Given the description of an element on the screen output the (x, y) to click on. 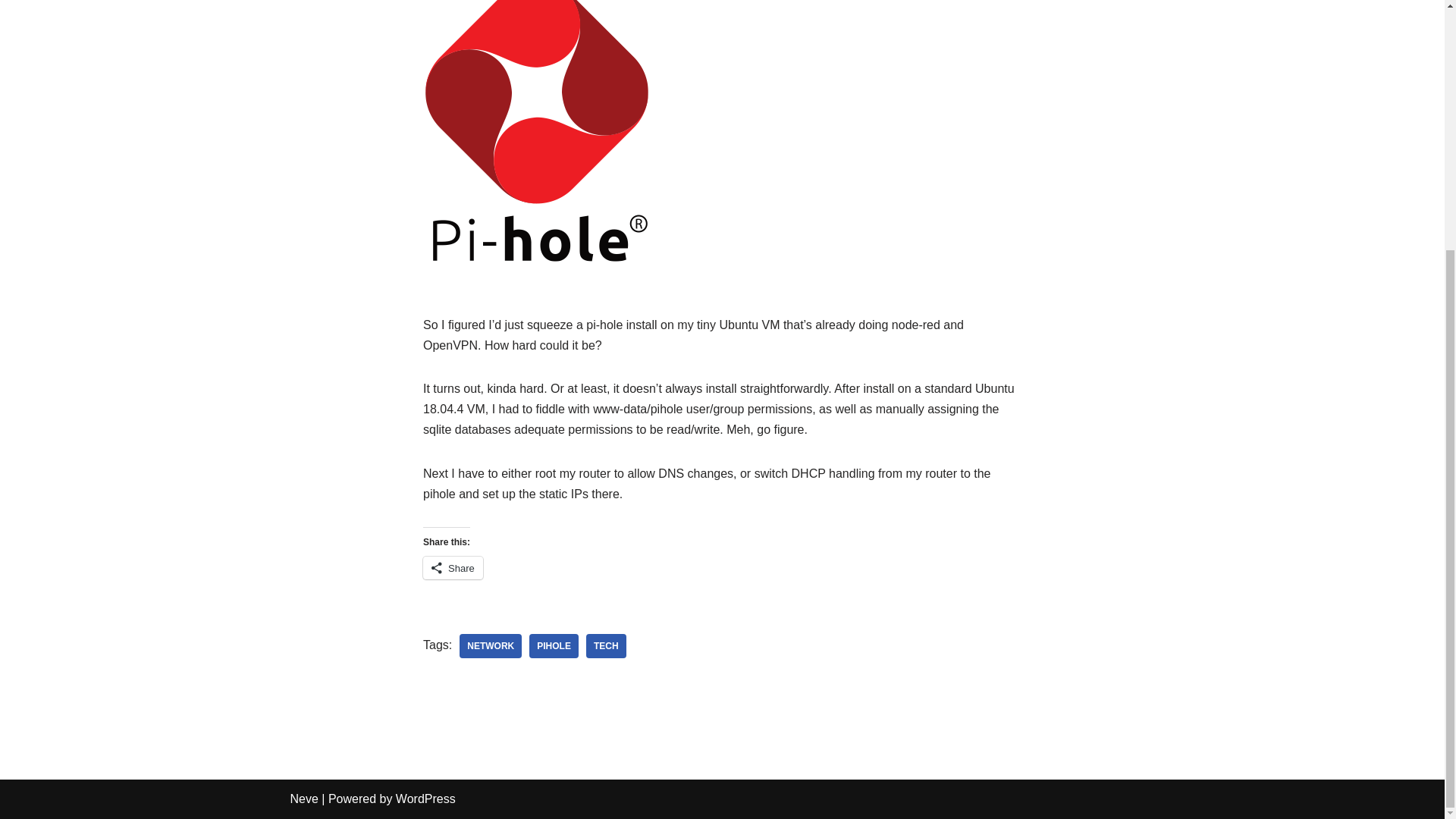
tech (606, 645)
PIHOLE (553, 645)
Neve (303, 798)
pihole (553, 645)
NETWORK (490, 645)
network (490, 645)
Share (453, 567)
WordPress (425, 798)
TECH (606, 645)
